Given the description of an element on the screen output the (x, y) to click on. 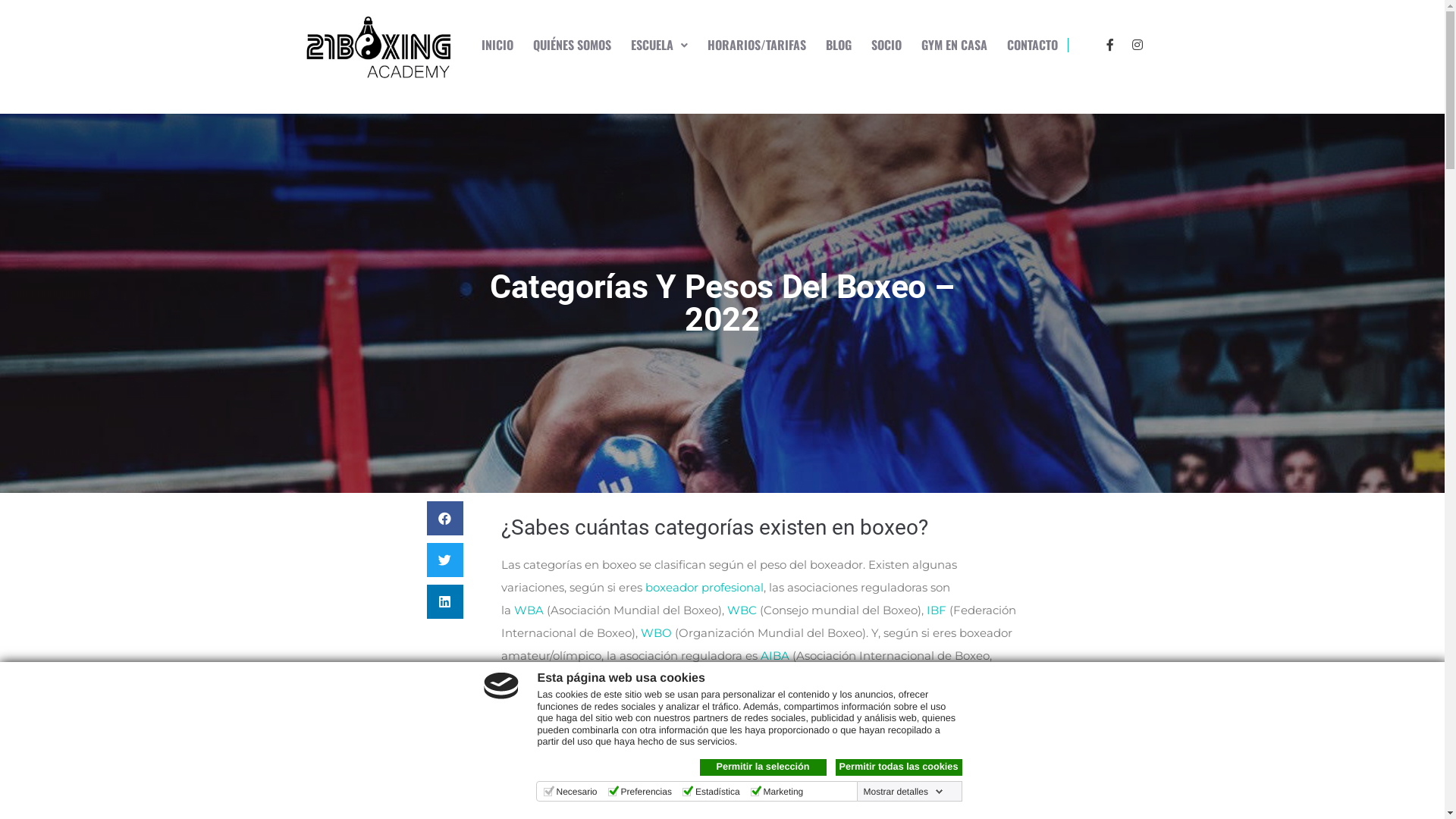
ESCUELA Element type: text (651, 45)
AIBA Element type: text (773, 655)
CONTACTO Element type: text (1024, 45)
HORARIOS/TARIFAS Element type: text (749, 45)
WBA Element type: text (528, 609)
COI Element type: text (526, 757)
Permitir todas las cookies Element type: text (898, 767)
INICIO Element type: text (489, 45)
GYM EN CASA Element type: text (946, 45)
WBC Element type: text (741, 609)
SOCIO Element type: text (878, 45)
Mostrar detalles Element type: text (903, 791)
WBO Element type: text (655, 632)
AIBA Element type: text (819, 757)
IBF Element type: text (936, 609)
BLOG Element type: text (830, 45)
boxeador profesional Element type: text (703, 587)
